Given the description of an element on the screen output the (x, y) to click on. 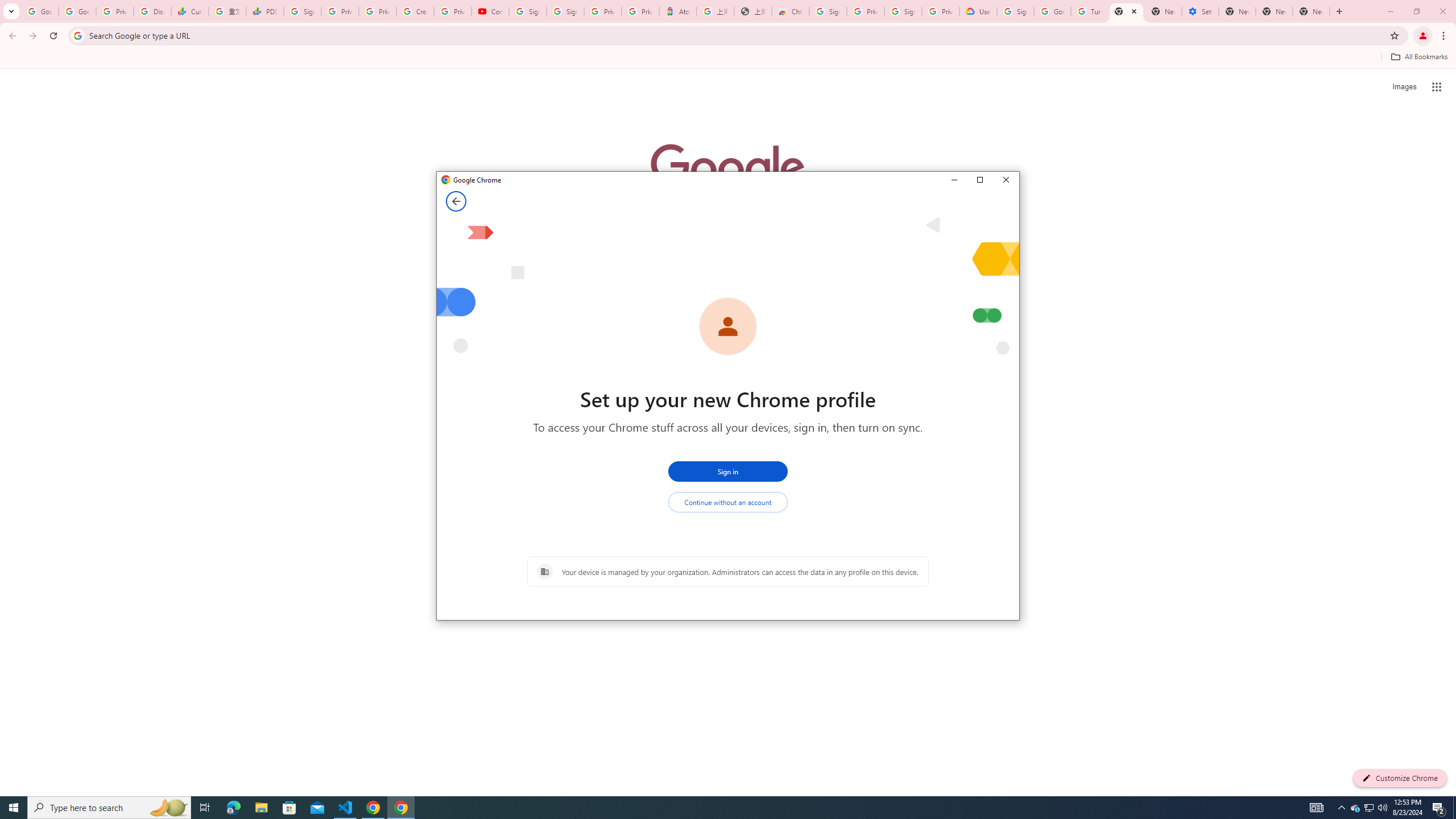
Google Workspace Admin Community (40, 11)
Sign in - Google Accounts (827, 11)
AutomationID: 4105 (1316, 807)
User Promoted Notification Area (1368, 807)
Continue without an account (727, 502)
Microsoft Edge (233, 807)
Sign in - Google Accounts (1015, 11)
